Given the description of an element on the screen output the (x, y) to click on. 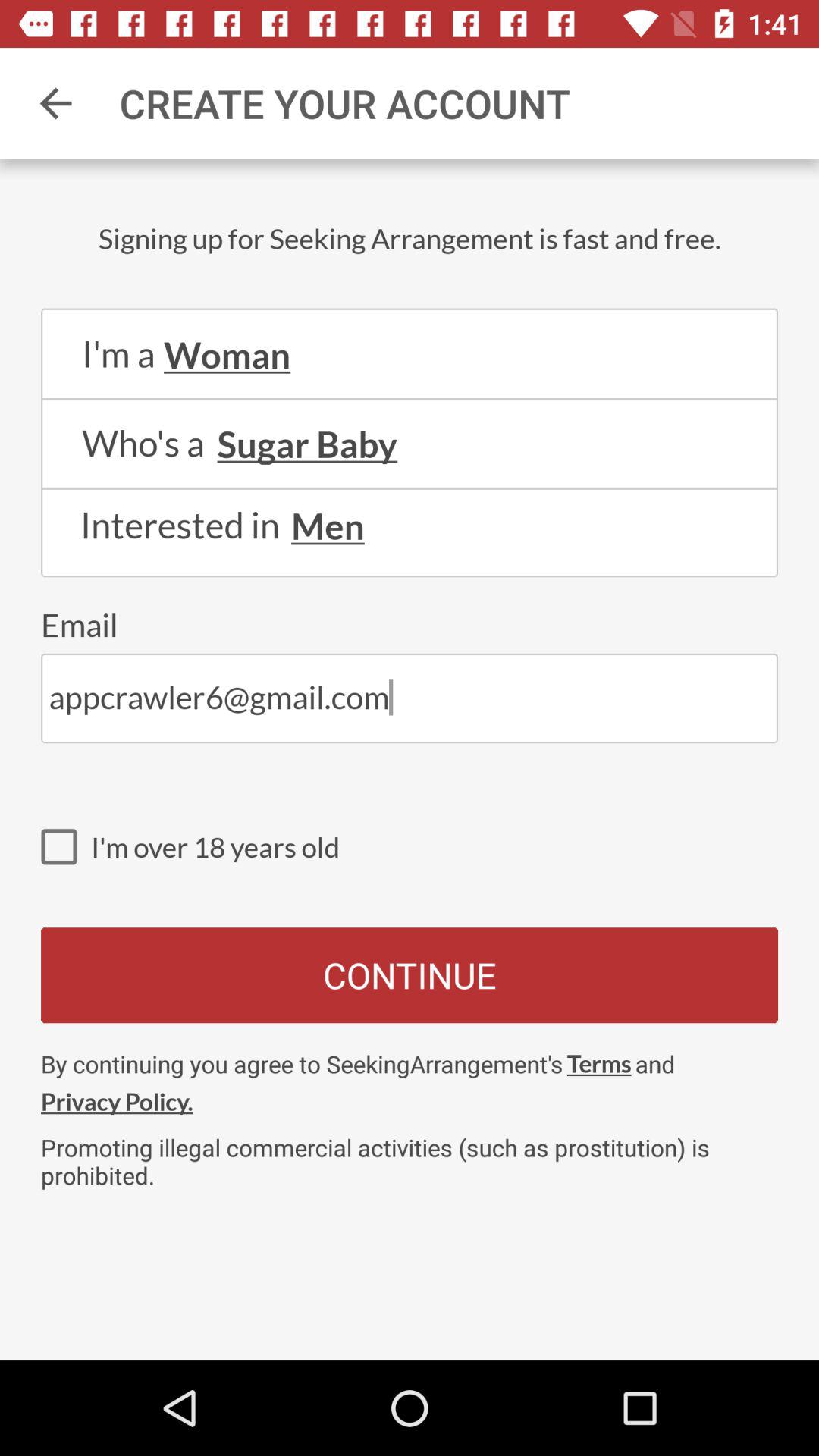
select item below the email icon (409, 698)
